Given the description of an element on the screen output the (x, y) to click on. 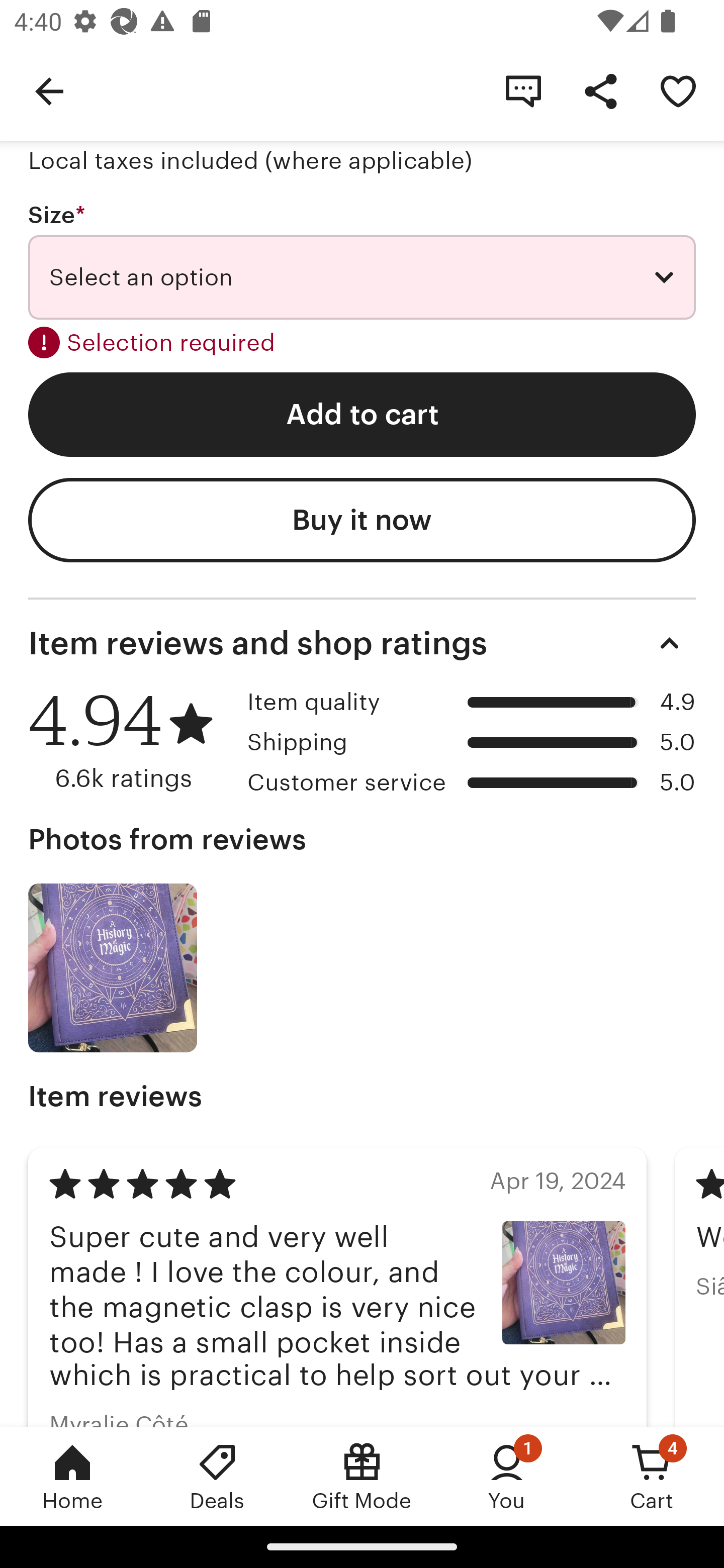
Navigate up (49, 90)
Contact shop (523, 90)
Share (600, 90)
Select an option (361, 277)
Add to cart (361, 414)
Buy it now (361, 520)
Item reviews and shop ratings (362, 642)
4.94 6.6k ratings (130, 739)
Photo from review (112, 967)
Deals (216, 1475)
Gift Mode (361, 1475)
You, 1 new notification You (506, 1475)
Cart, 4 new notifications Cart (651, 1475)
